Given the description of an element on the screen output the (x, y) to click on. 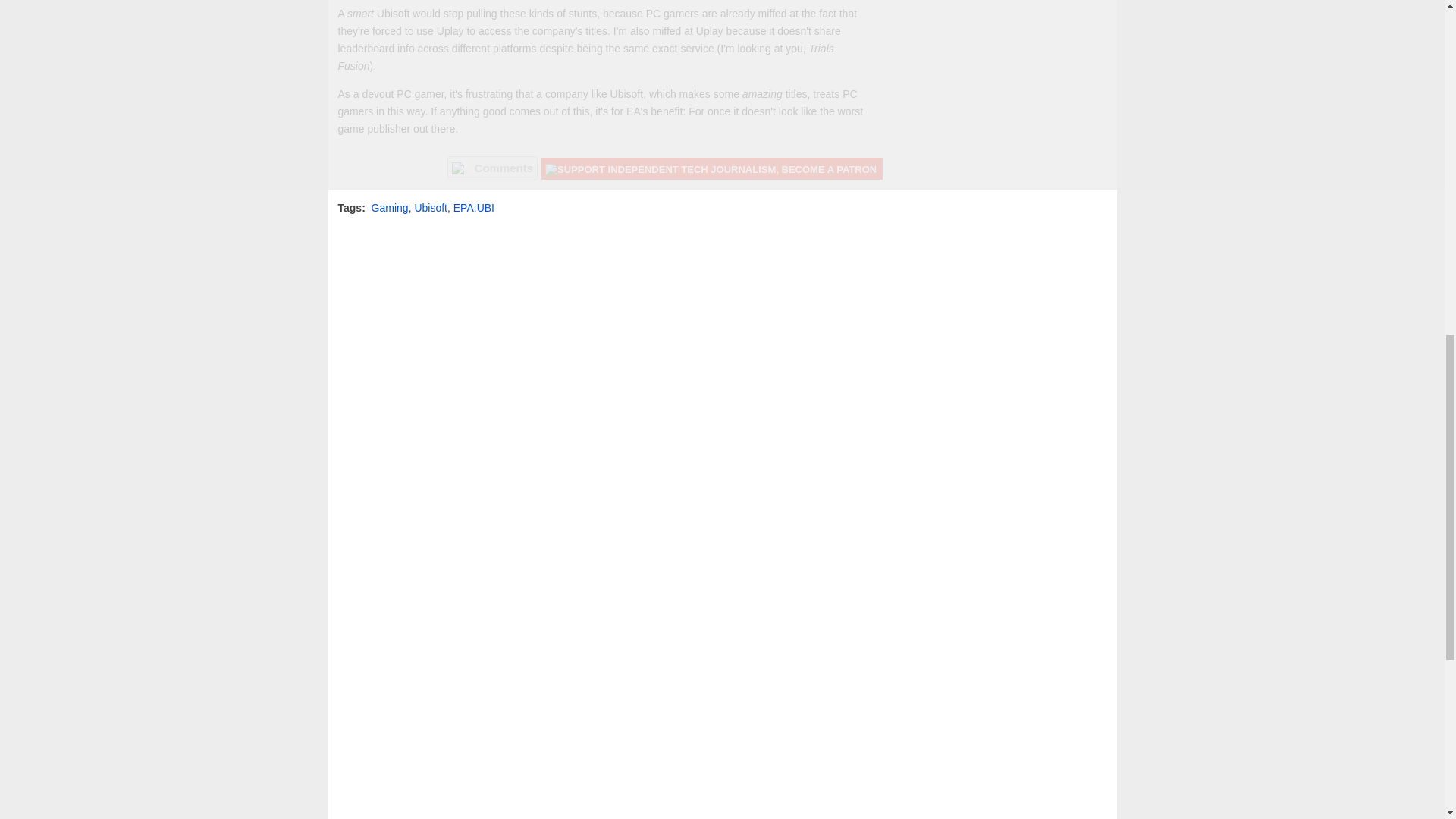
Comments (492, 168)
